Given the description of an element on the screen output the (x, y) to click on. 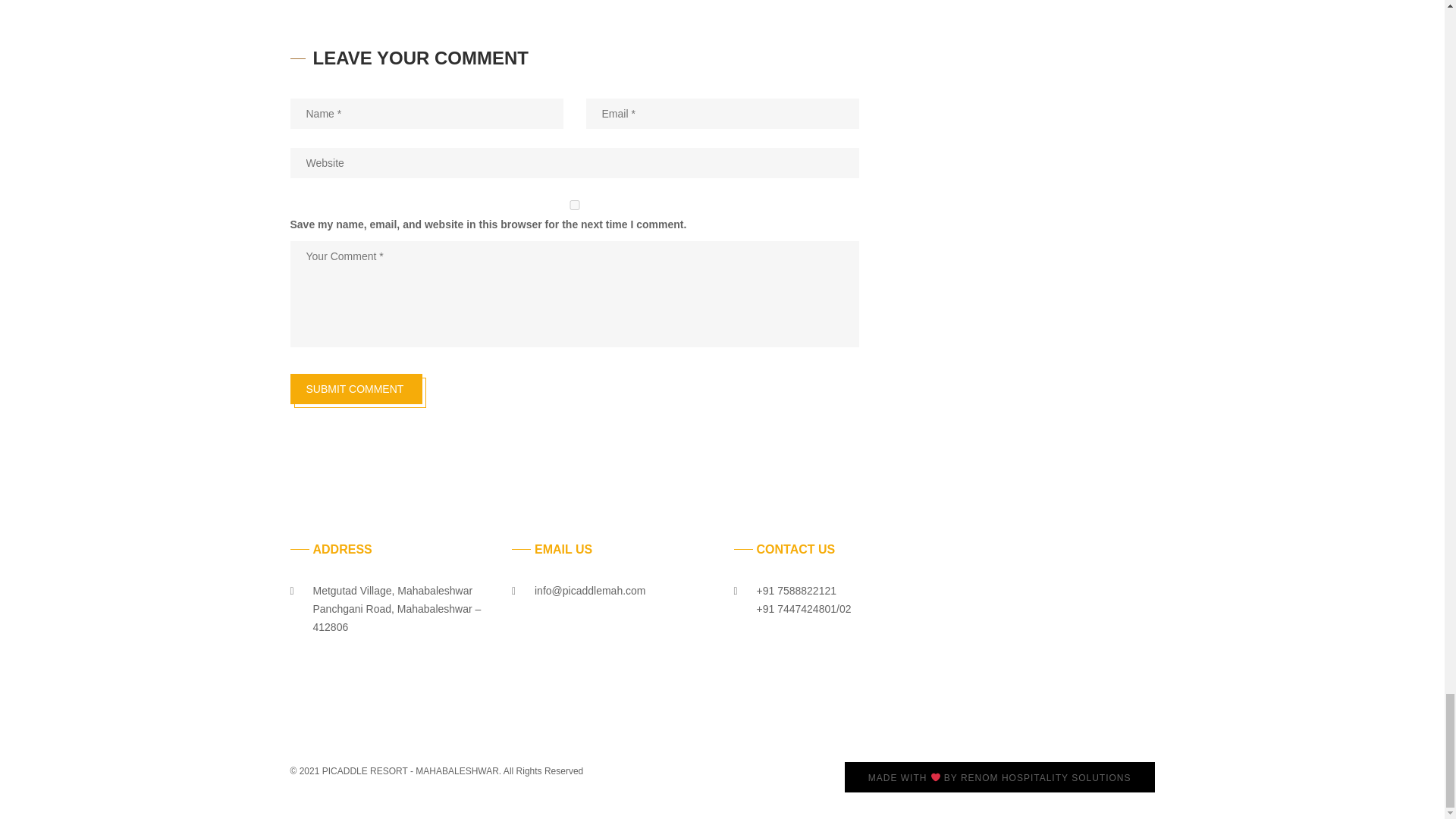
Submit Comment  (355, 388)
yes (574, 204)
